Given the description of an element on the screen output the (x, y) to click on. 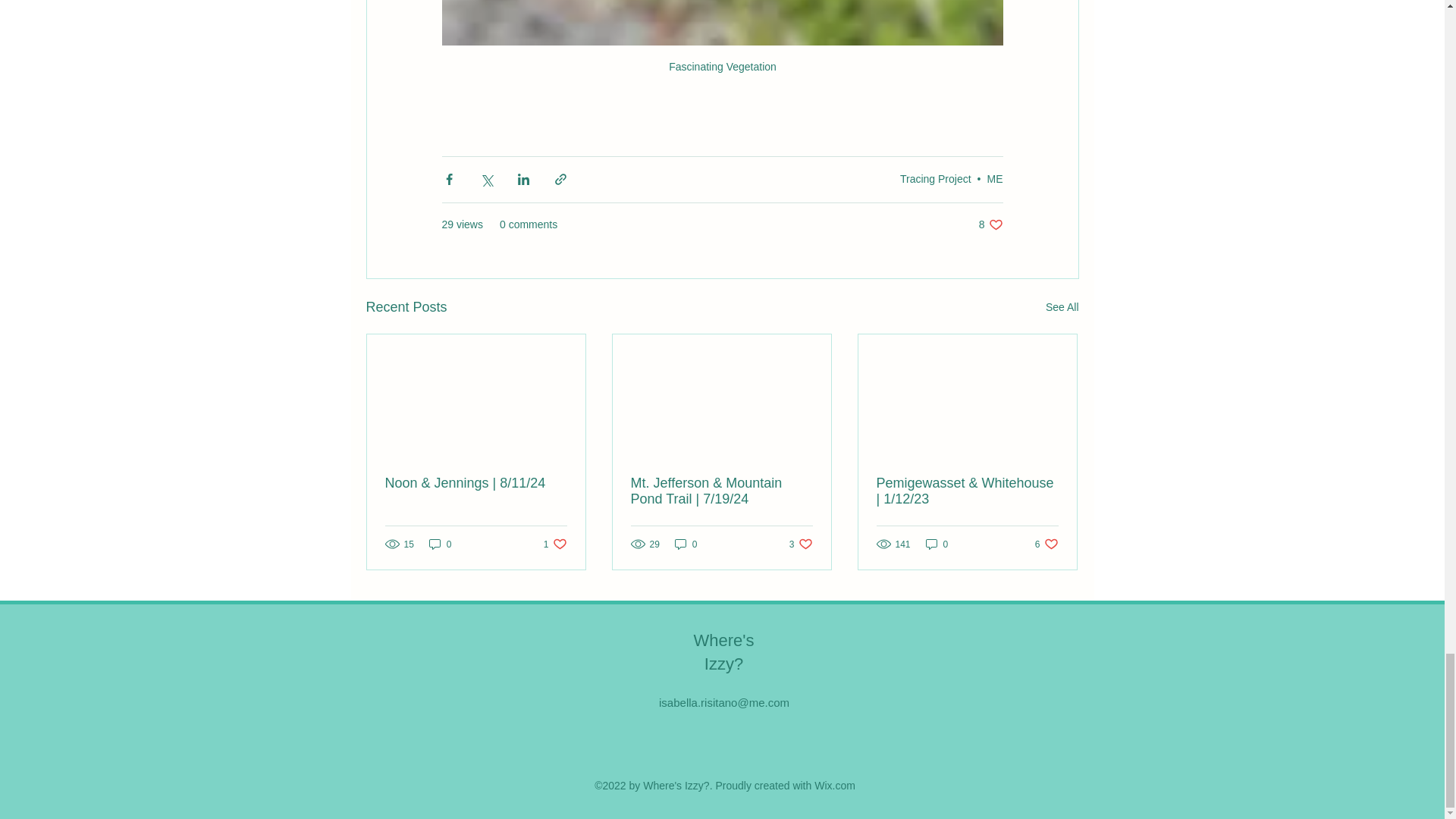
0 (685, 544)
0 (800, 544)
0 (440, 544)
Tracing Project (937, 544)
ME (555, 544)
See All (990, 224)
